Given the description of an element on the screen output the (x, y) to click on. 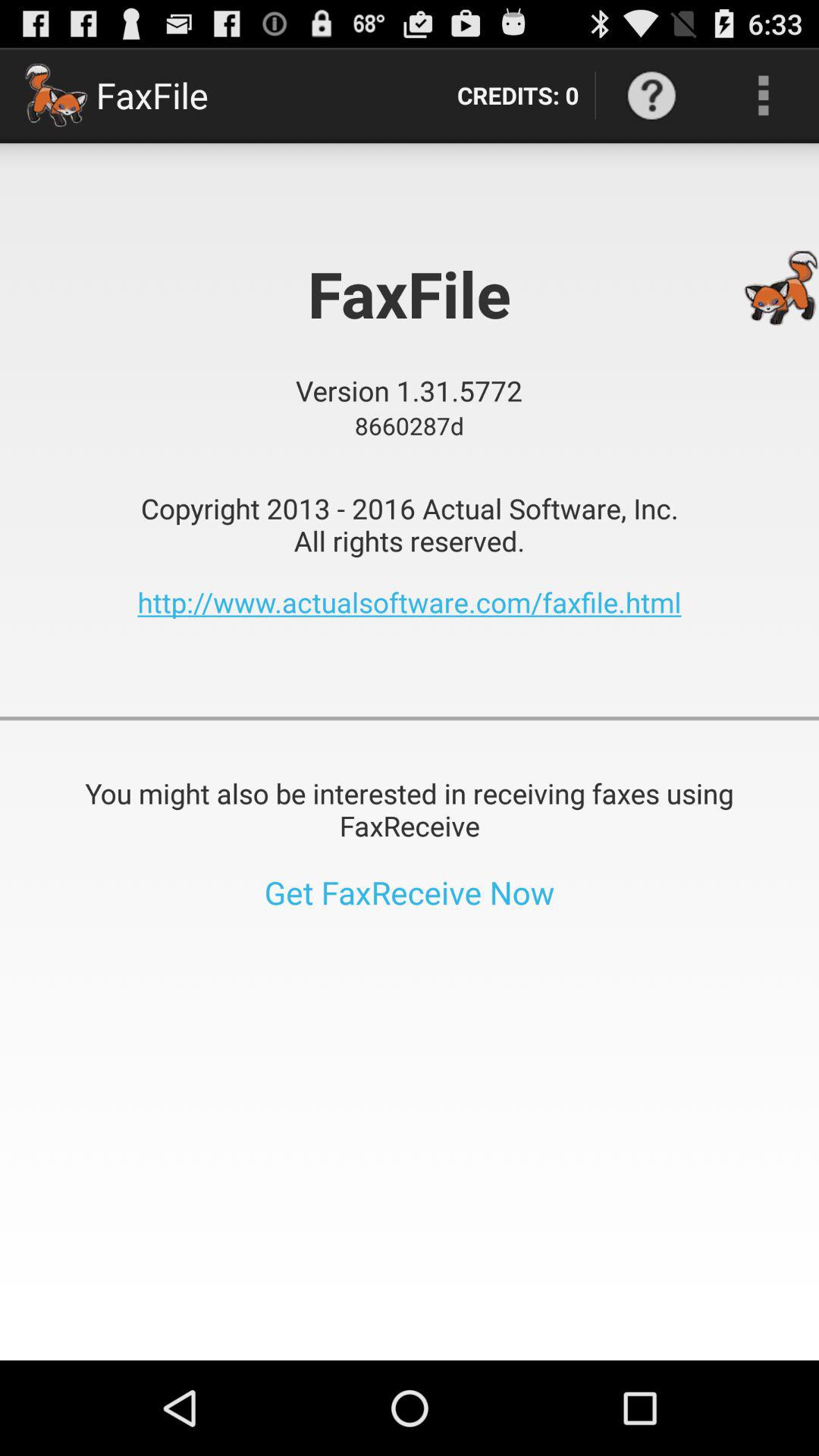
launch the get faxreceive now item (409, 892)
